Given the description of an element on the screen output the (x, y) to click on. 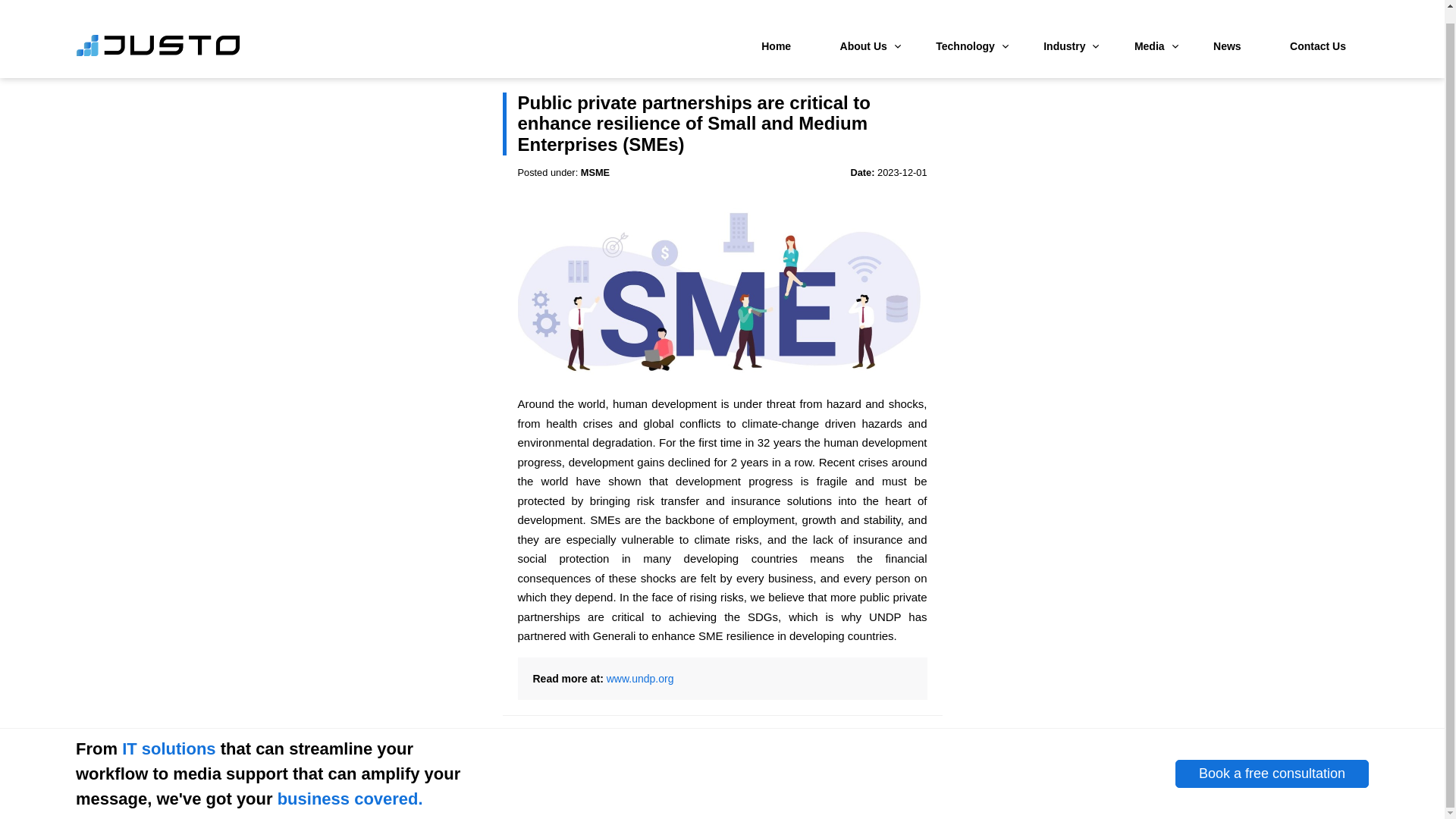
www.undp.org (640, 678)
Home (775, 32)
Media (1149, 32)
Justo (158, 40)
Technology (965, 32)
Contact Us (1318, 32)
News (1227, 32)
About Us (863, 32)
Book a free consultation (1271, 773)
Industry (1064, 32)
